Given the description of an element on the screen output the (x, y) to click on. 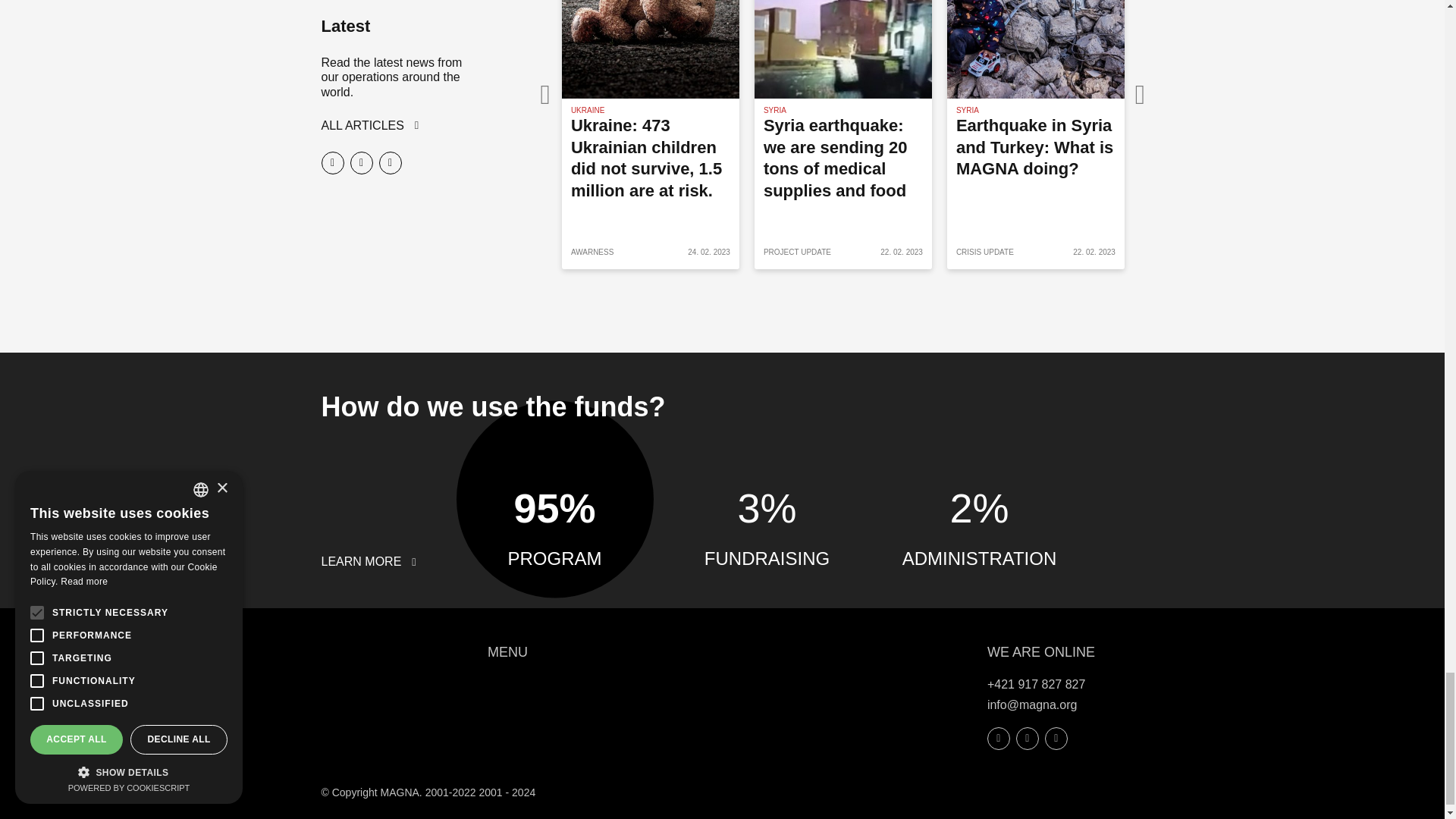
ALL ARTICLES (370, 124)
LEARN MORE (368, 561)
